Given the description of an element on the screen output the (x, y) to click on. 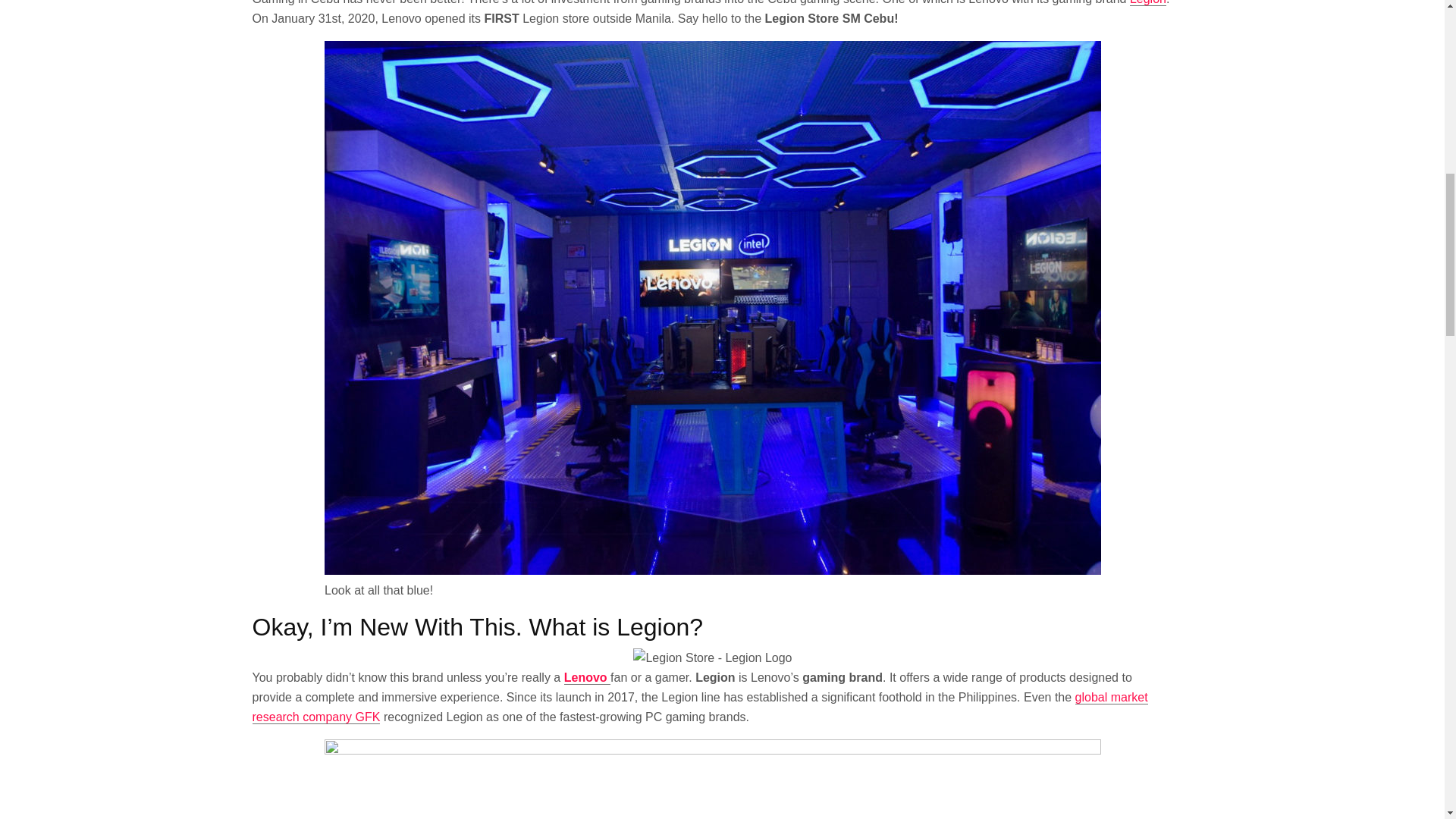
global market research company GFK (699, 707)
Legion (1147, 2)
Lenovo (587, 677)
